Given the description of an element on the screen output the (x, y) to click on. 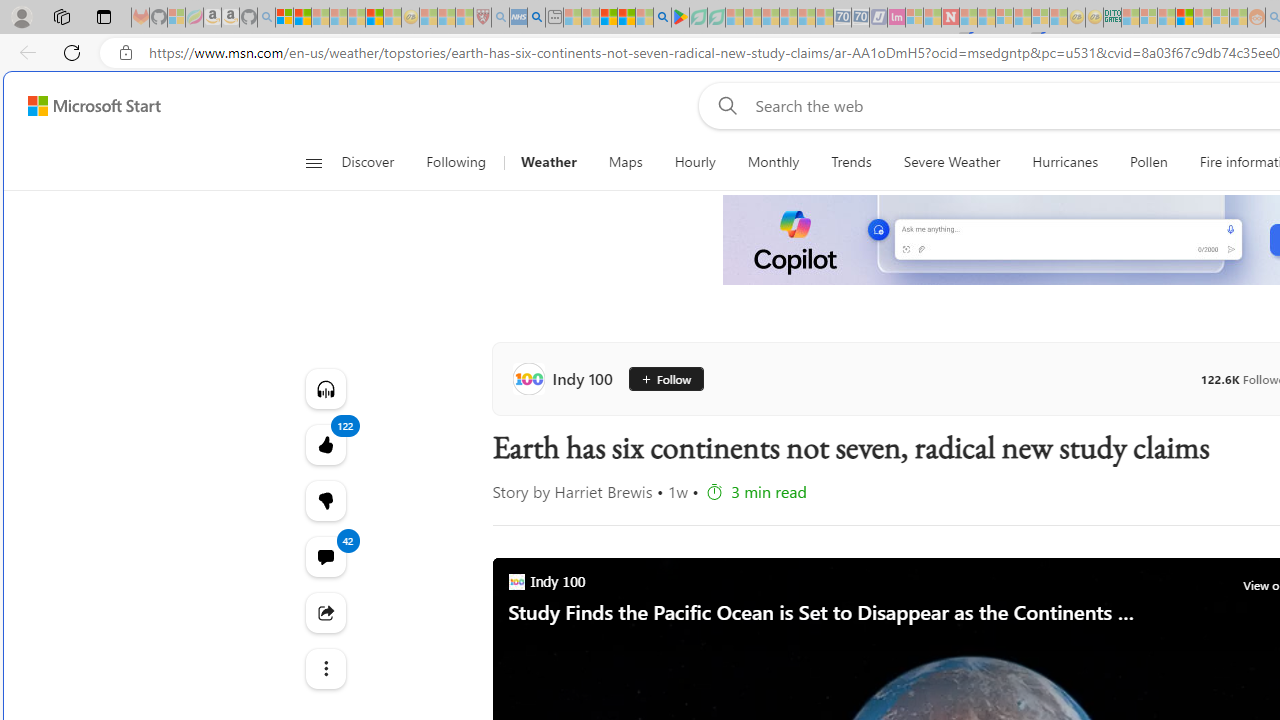
Skip to content (86, 105)
Open navigation menu (313, 162)
Trends (851, 162)
Robert H. Shmerling, MD - Harvard Health - Sleeping (482, 17)
Jobs - lastminute.com Investor Portal - Sleeping (896, 17)
